Given the description of an element on the screen output the (x, y) to click on. 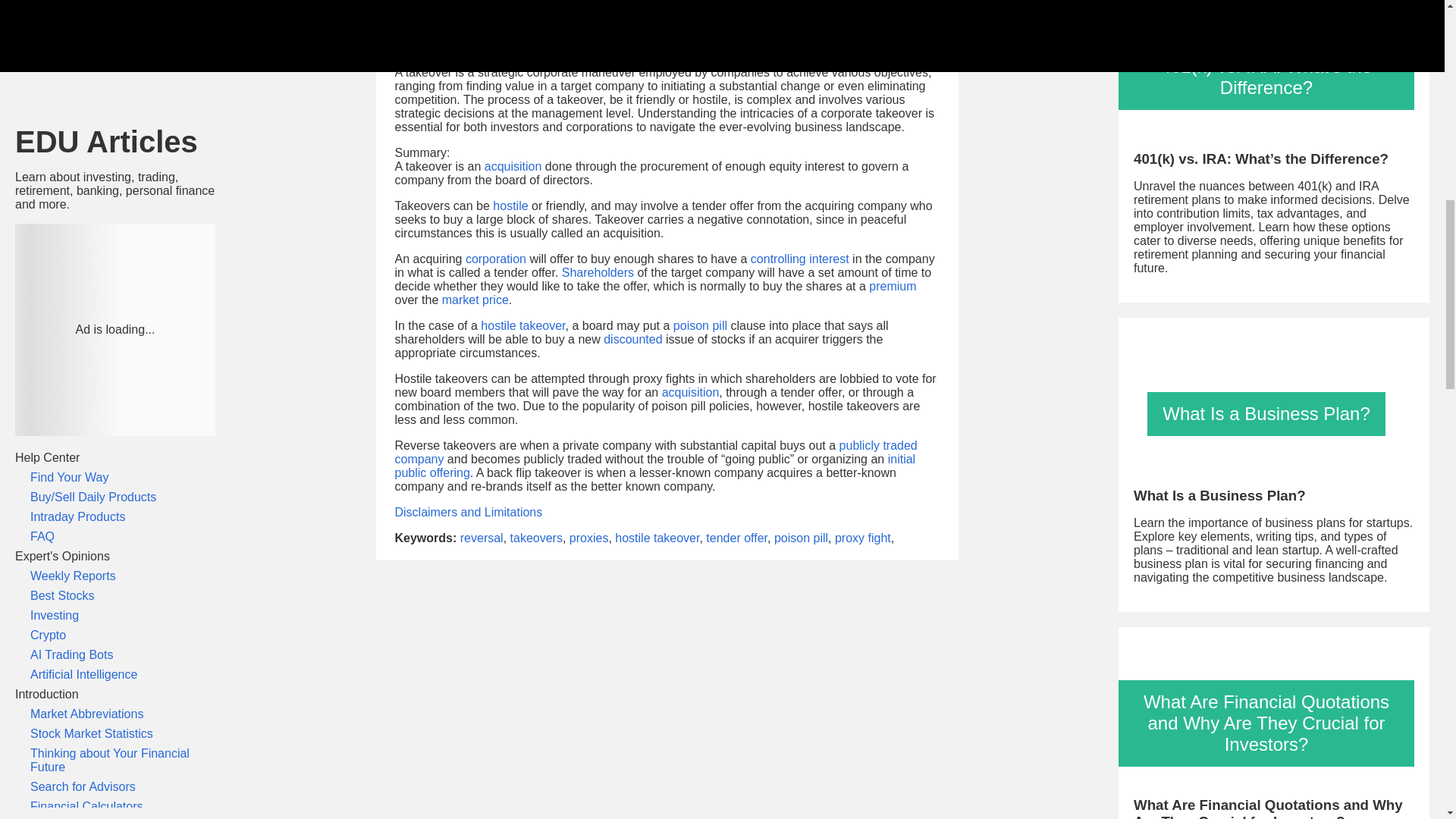
Ratings (114, 159)
Diversification (114, 139)
Basics (114, 251)
Trading Commodities (114, 547)
Mutual Funds (114, 330)
Trading 1 on 1 (114, 291)
Federal Agencies and Programs (114, 27)
Trading Forex (114, 527)
Patterns (114, 488)
Investment Terminology (114, 271)
Bonds (114, 310)
Trading Models (114, 468)
Practical Portfolio Management Info (114, 112)
Annuities (114, 389)
Trading Markets (114, 198)
